Given the description of an element on the screen output the (x, y) to click on. 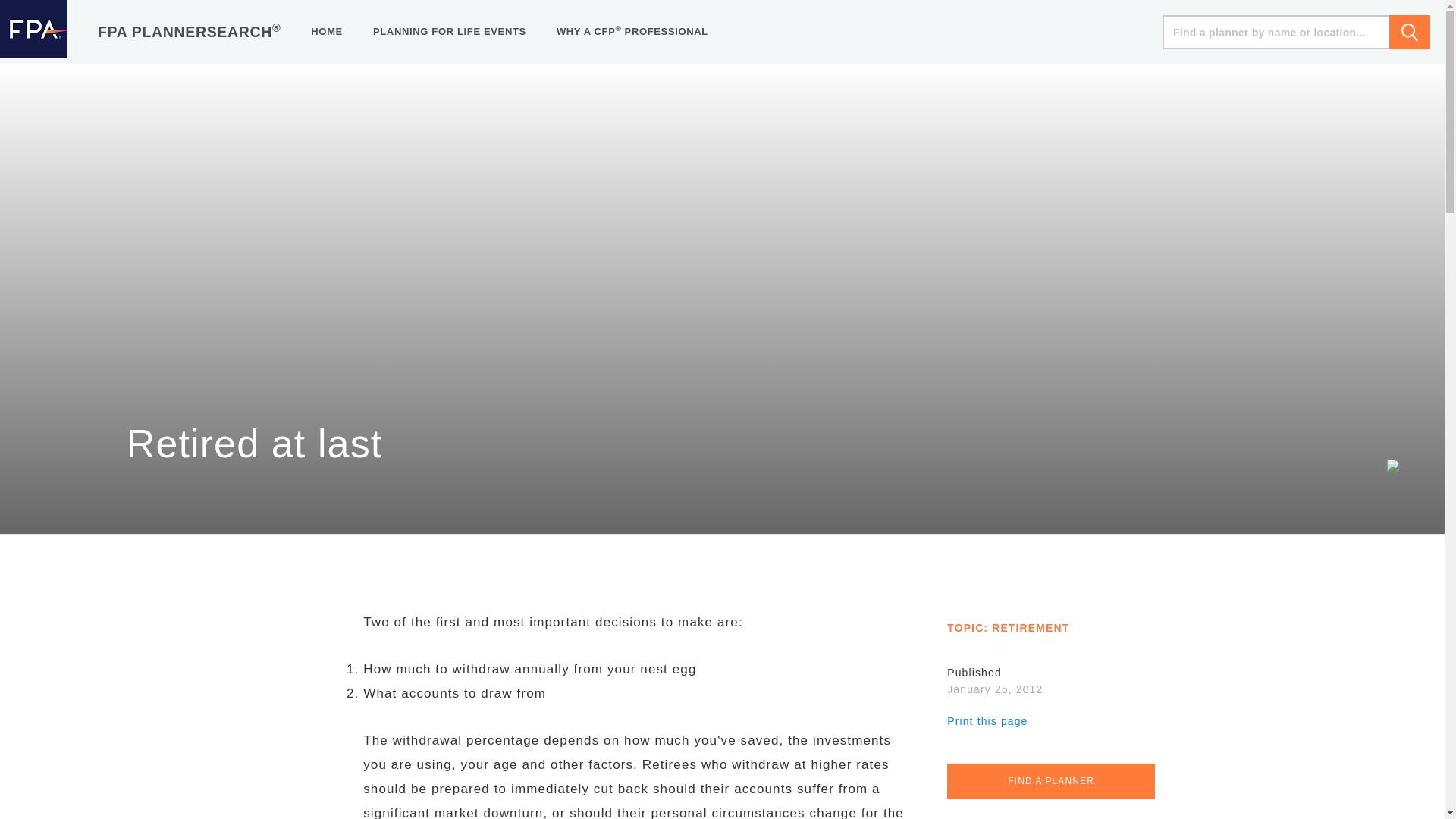
Print this page (987, 720)
HOME (326, 31)
PLANNING FOR LIFE EVENTS (449, 31)
Financial Planning Association Logo (33, 31)
FIND A PLANNER (1050, 781)
